Given the description of an element on the screen output the (x, y) to click on. 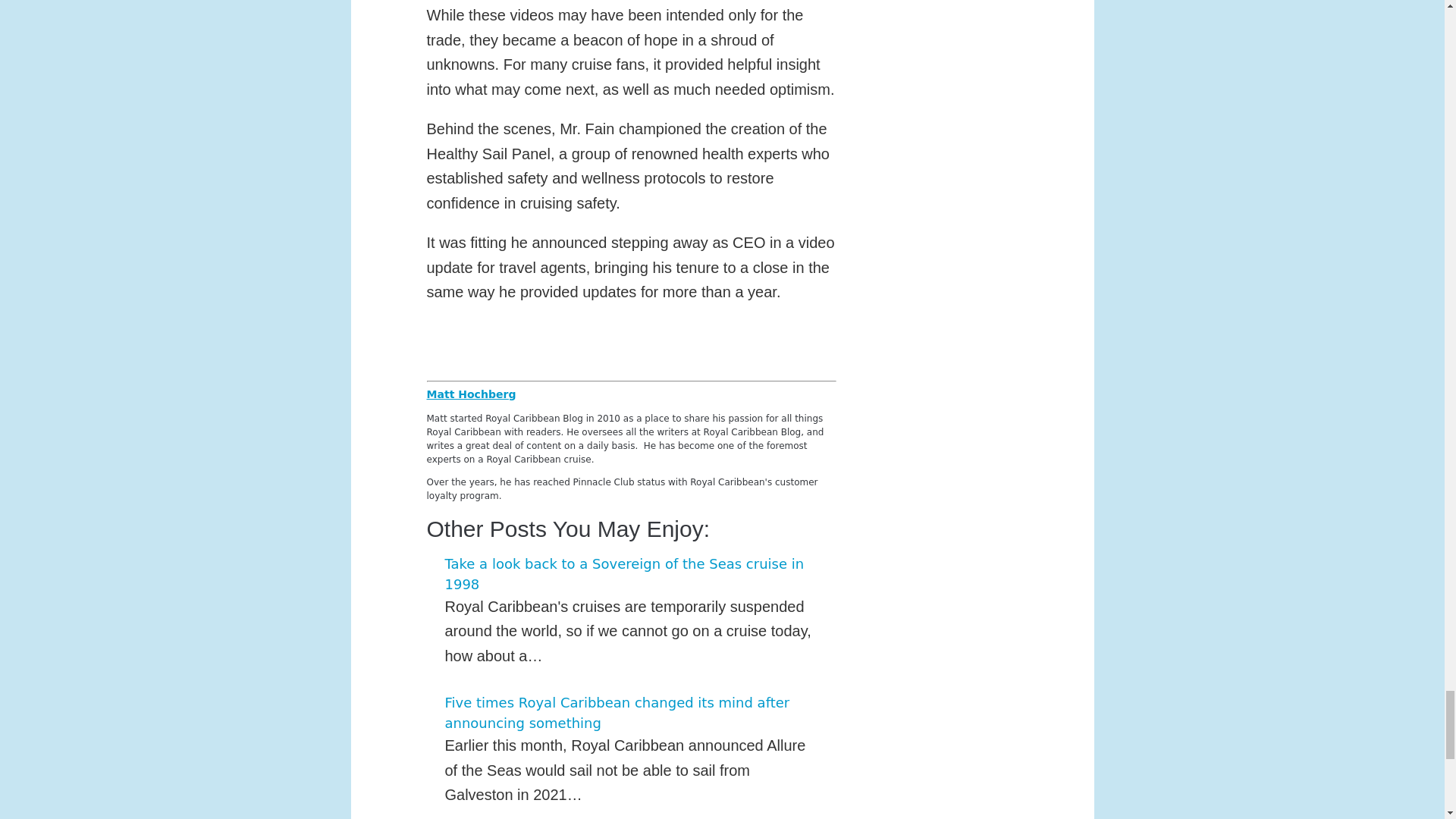
Take a look back to a Sovereign of the Seas cruise in 1998 (623, 574)
Matt Hochberg (470, 394)
